Given the description of an element on the screen output the (x, y) to click on. 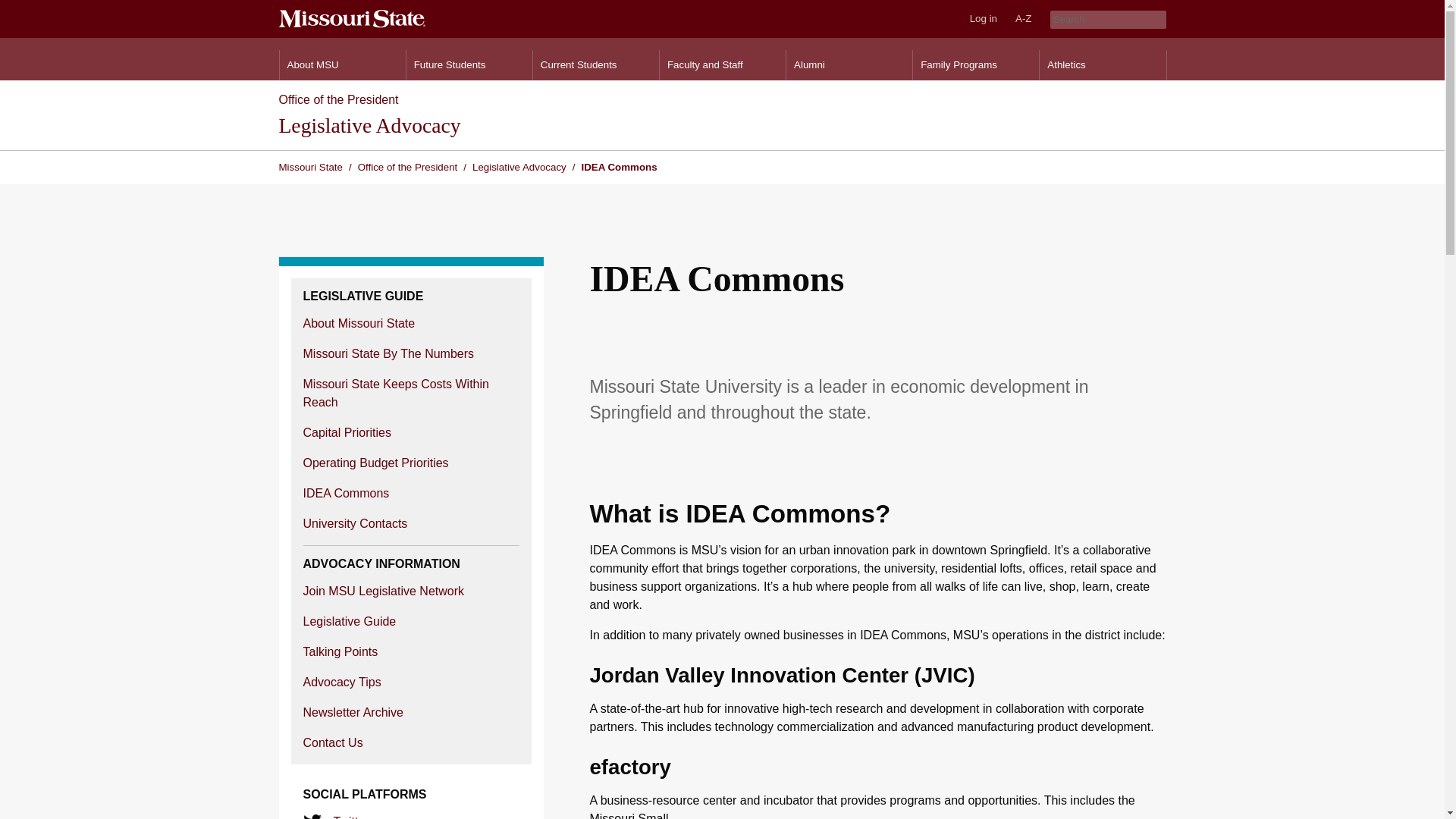
Log in (983, 18)
Future Students (469, 64)
A-Z (1023, 18)
About MSU (341, 64)
Current Students (595, 64)
